Given the description of an element on the screen output the (x, y) to click on. 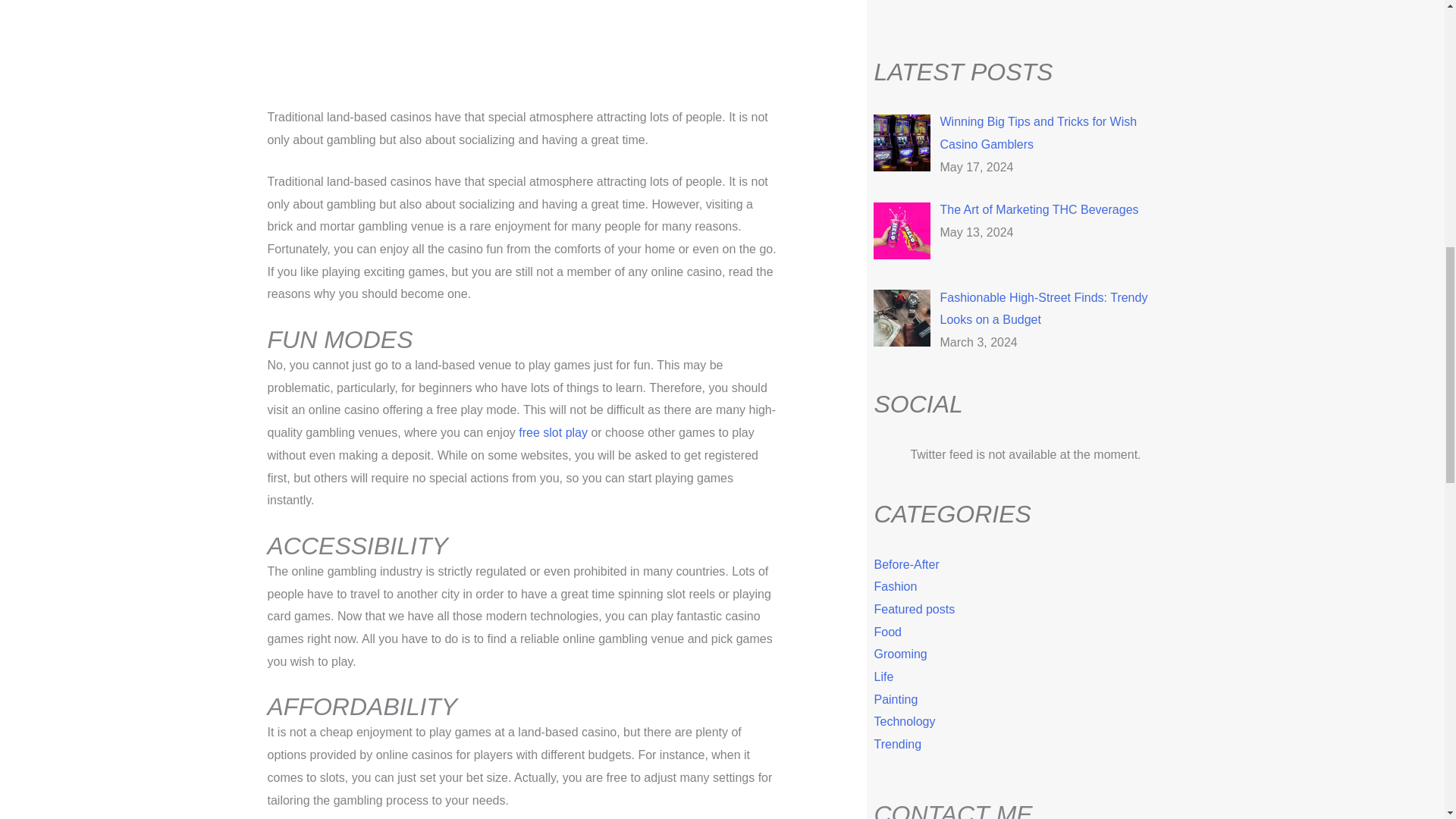
Technology (903, 721)
Food (887, 631)
Trending (897, 744)
free slot play (553, 431)
Painting (895, 698)
Before-After (906, 563)
Fashionable High-Street Finds: Trendy Looks on a Budget (1043, 308)
Featured posts (914, 608)
Fashion (895, 585)
Life (883, 676)
